Given the description of an element on the screen output the (x, y) to click on. 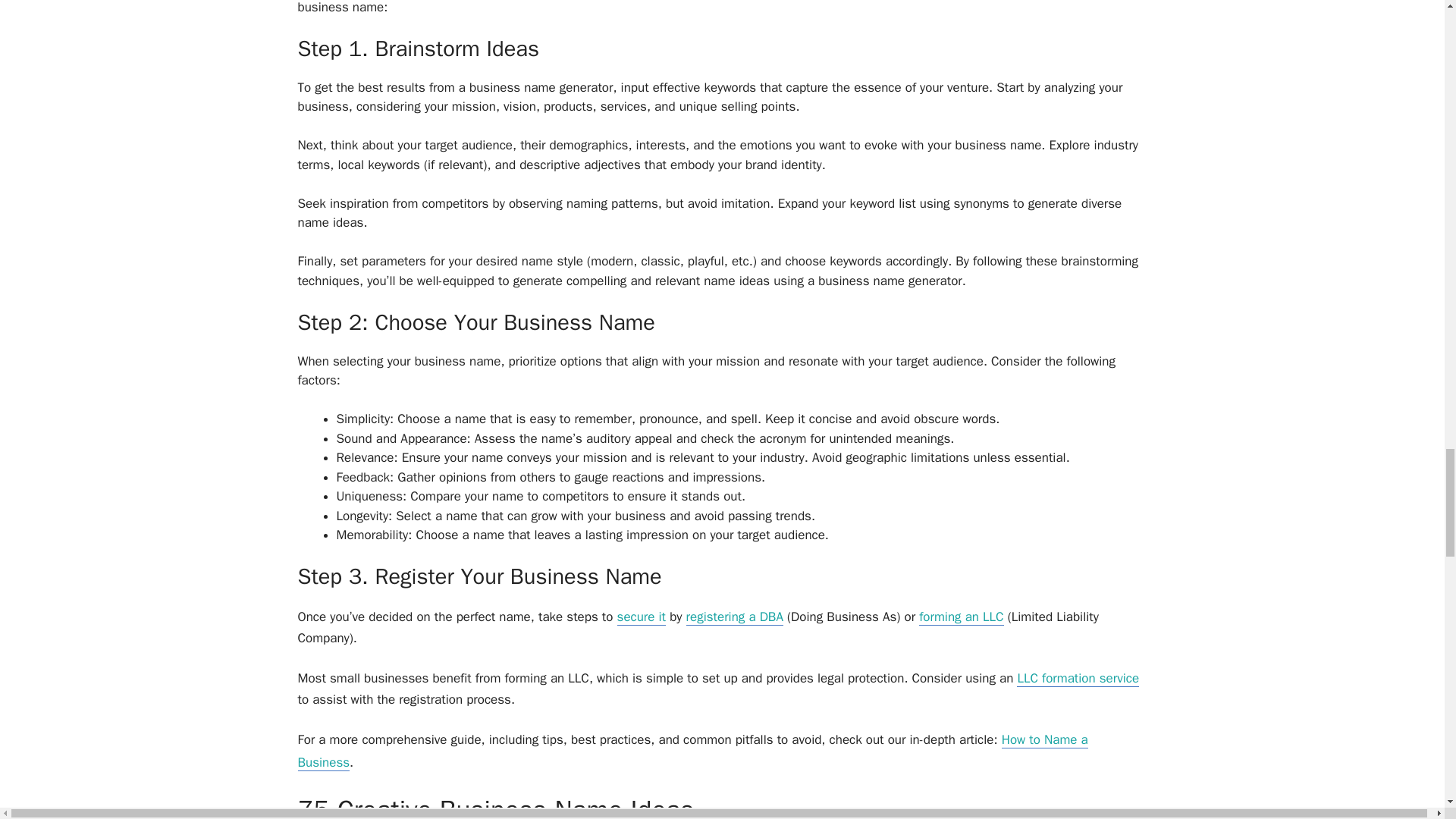
How to Name a Business (692, 751)
LLC formation service (1077, 678)
registering a DBA (734, 617)
secure it (641, 617)
forming an LLC (960, 617)
